Given the description of an element on the screen output the (x, y) to click on. 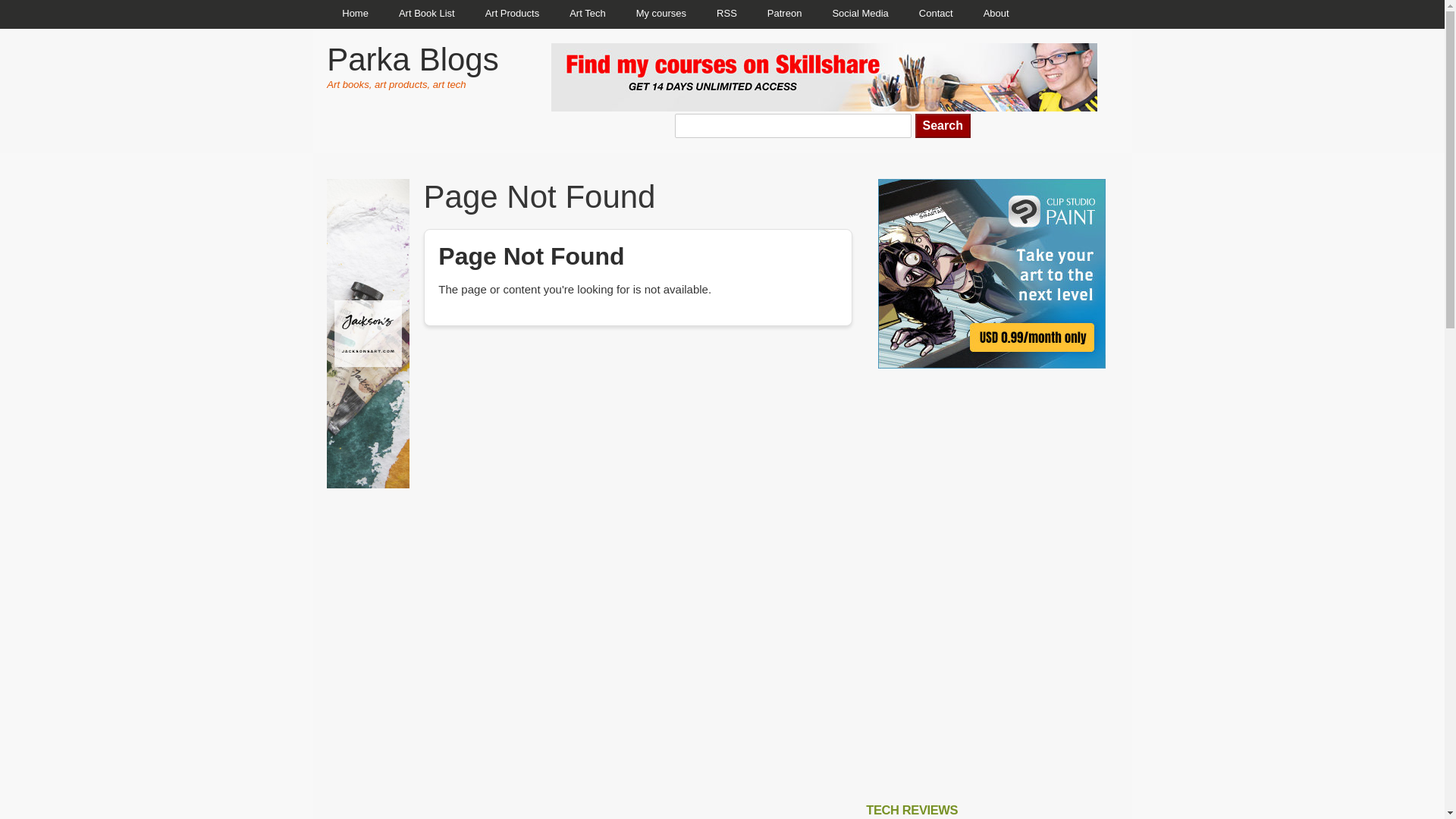
RSS (726, 14)
Home (355, 14)
Search (943, 125)
Art Products (512, 14)
Contact (936, 14)
Art books from the west (427, 14)
Social Media (859, 14)
Art Tech (587, 14)
Drawing courses (661, 14)
RSS (726, 14)
Art products and materials review (512, 14)
Patreon (784, 14)
Art Book List (427, 14)
Parka Blogs (411, 58)
About (996, 14)
